Given the description of an element on the screen output the (x, y) to click on. 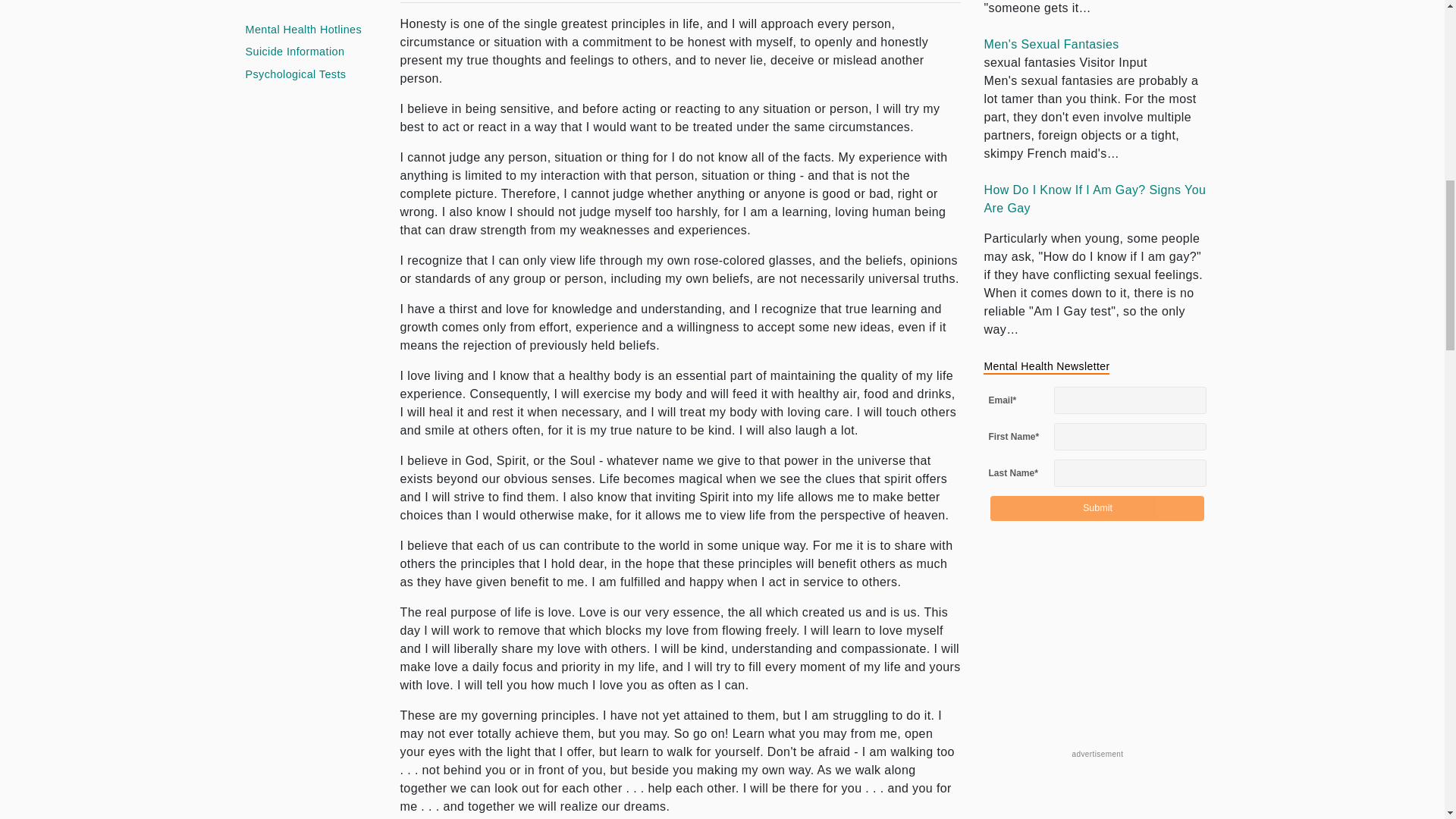
Mental Health Hotline Numbers and Referral Resources (304, 30)
Submit (1097, 508)
Take a Psychological Test (296, 74)
